Given the description of an element on the screen output the (x, y) to click on. 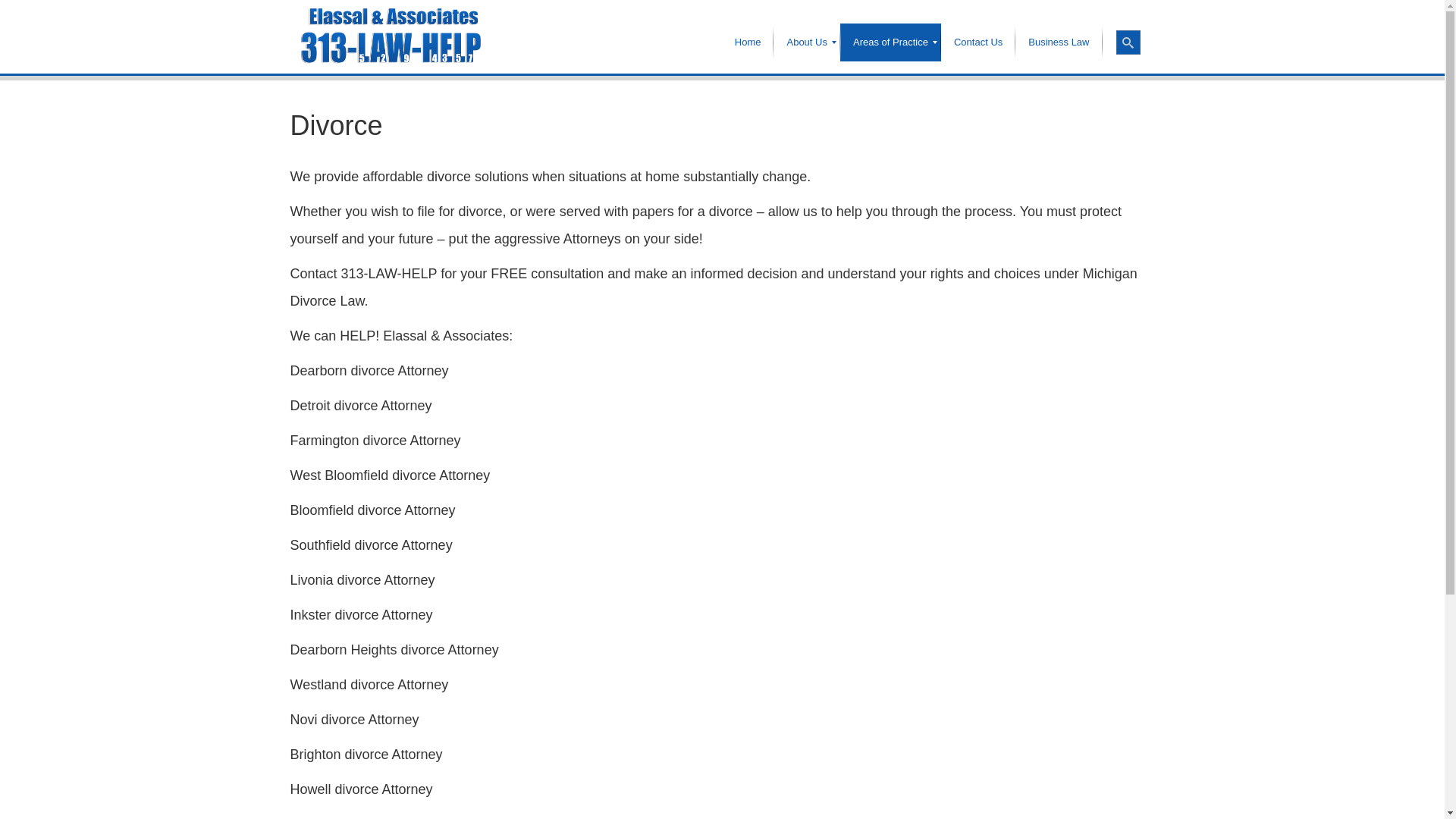
Areas of Practice Element type: text (890, 42)
Contact Us Element type: text (978, 42)
Home Element type: text (747, 42)
313 Law Help Element type: hover (389, 36)
About Us Element type: text (806, 42)
Business Law Element type: text (1058, 42)
Search Element type: text (1127, 42)
